Given the description of an element on the screen output the (x, y) to click on. 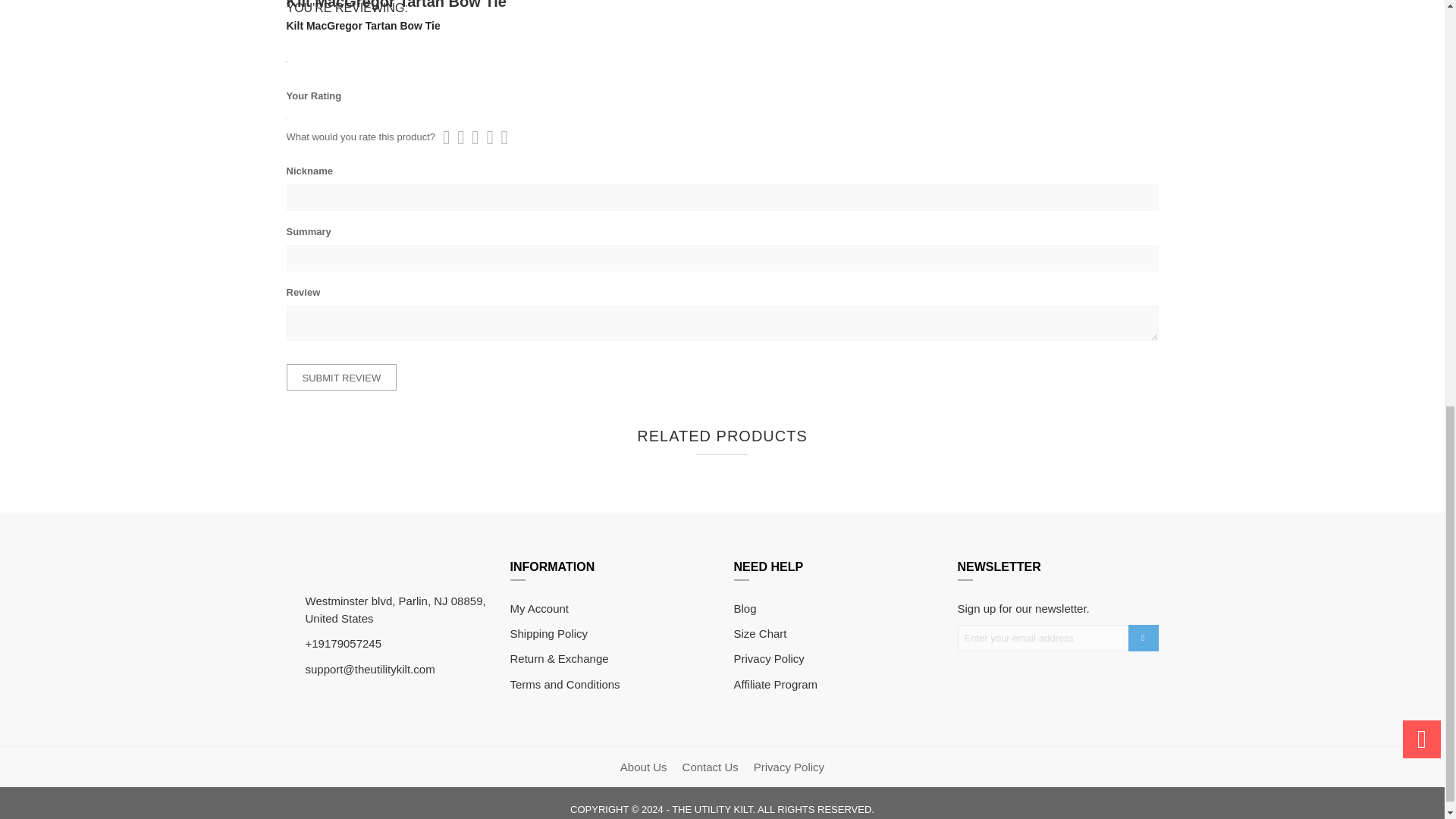
3 stars (463, 137)
2 stars (456, 137)
5 stars (477, 137)
4 stars (469, 137)
